Given the description of an element on the screen output the (x, y) to click on. 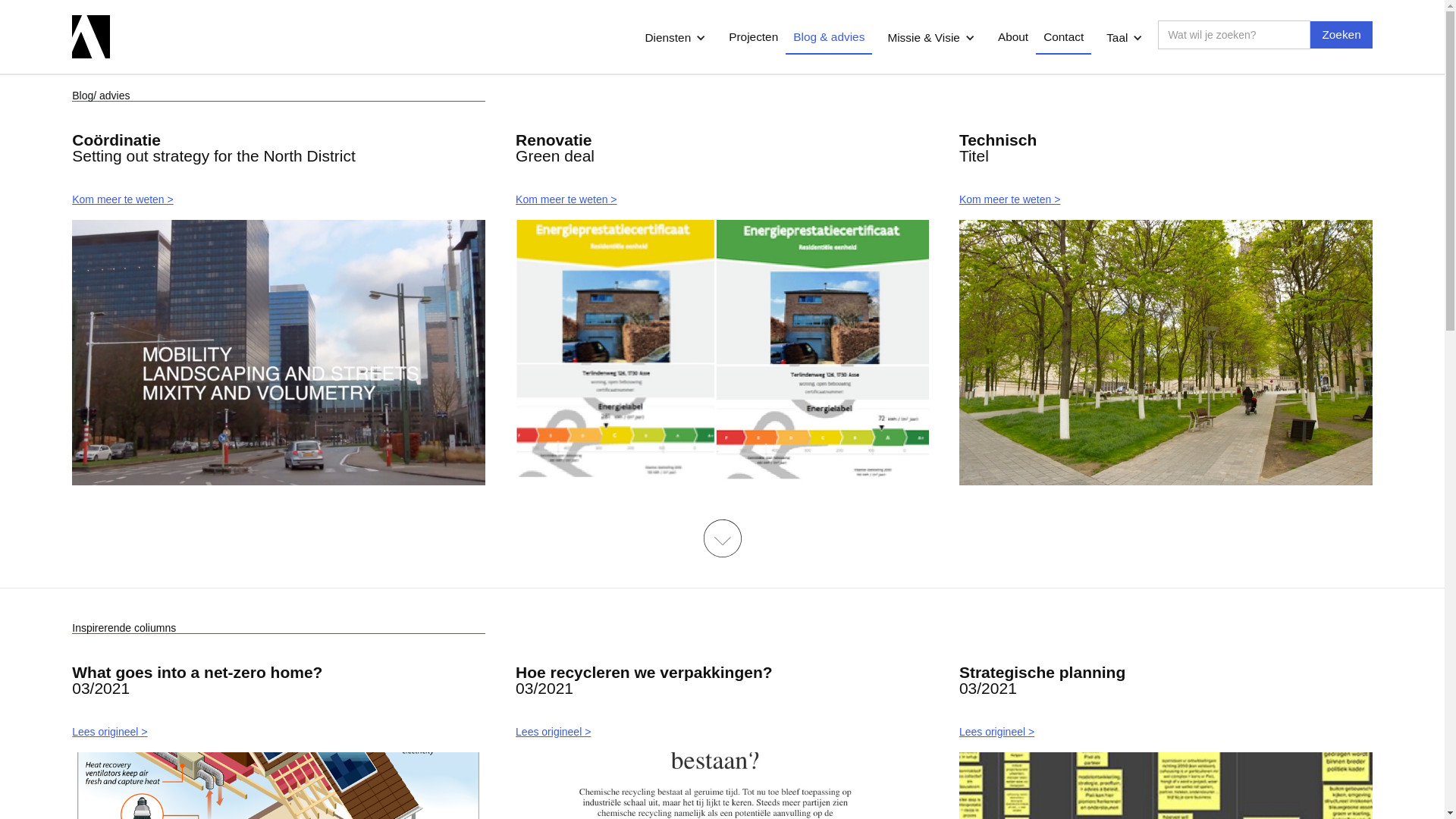
Kom meer te weten > Element type: text (278, 199)
Contact Element type: text (1063, 37)
Diensten Element type: text (667, 37)
Zoeken Element type: text (1340, 34)
Lees origineel > Element type: text (721, 731)
Taal Element type: text (1116, 37)
Lees origineel > Element type: text (1165, 731)
Kom meer te weten > Element type: text (1165, 199)
Kom meer te weten > Element type: text (721, 199)
Missie & Visie Element type: text (923, 37)
Blog & advies Element type: text (828, 37)
Projecten Element type: text (753, 37)
Lees origineel > Element type: text (278, 731)
About Element type: text (1012, 37)
